Given the description of an element on the screen output the (x, y) to click on. 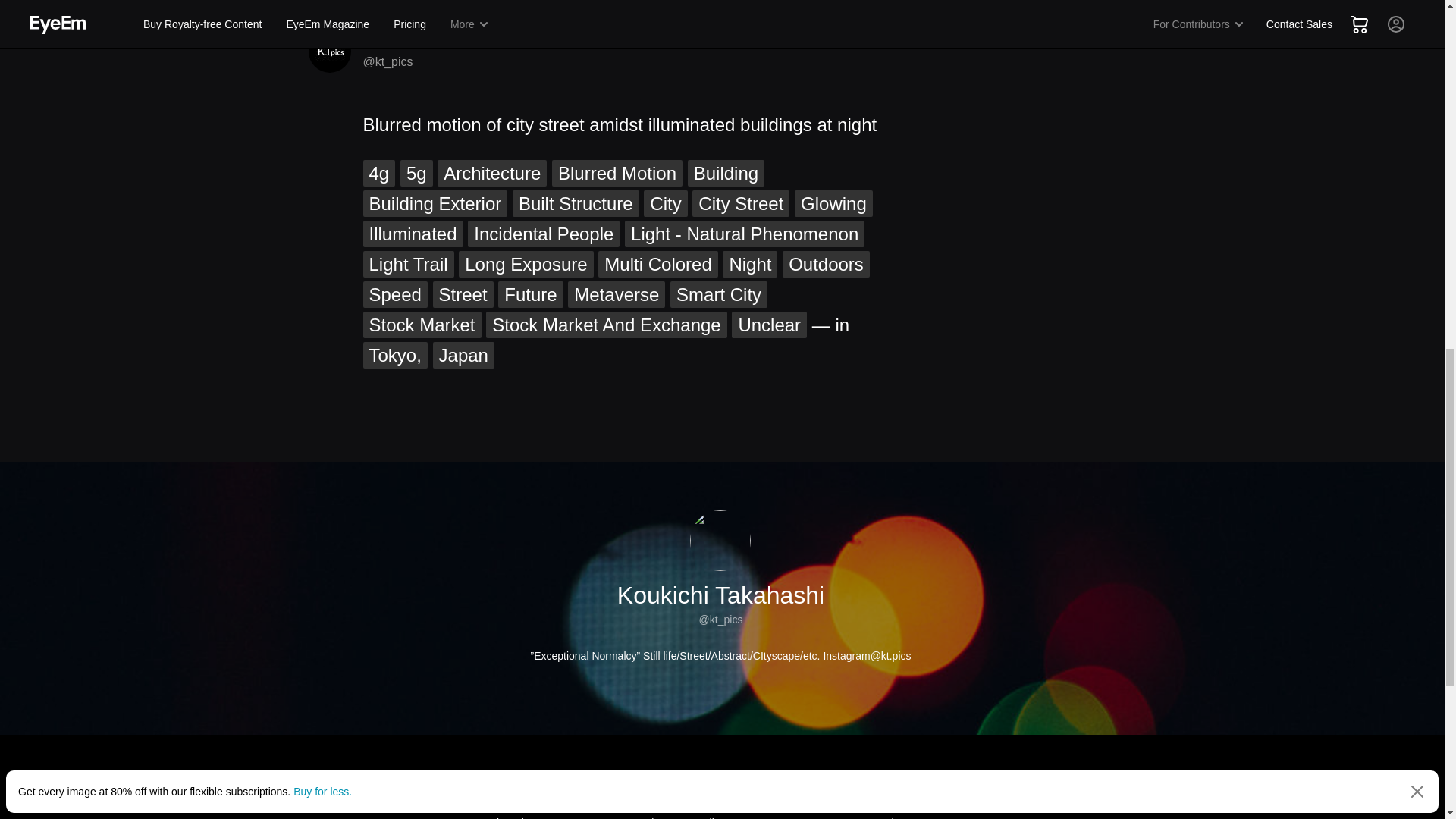
5g (416, 172)
Koukichi Takahashi (427, 41)
Night (749, 263)
Light Trail (407, 263)
Illuminated (412, 233)
Long Exposure (525, 263)
4g (378, 172)
Outdoors (826, 263)
Built Structure (575, 203)
Light - Natural Phenomenon (744, 233)
